Given the description of an element on the screen output the (x, y) to click on. 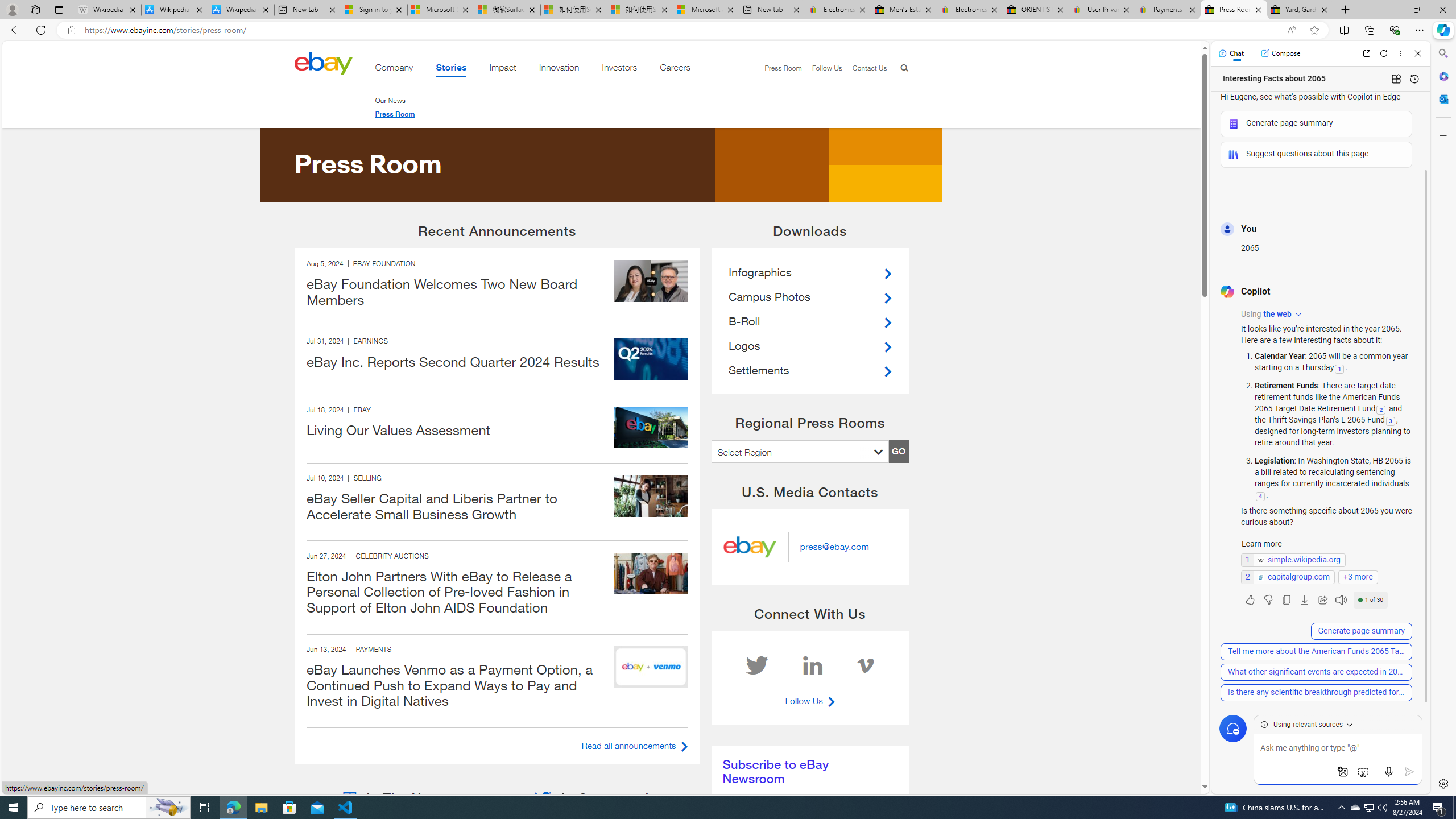
Careers (674, 69)
AutomationID: press-dropdown (799, 450)
240725 BoardMembers announcement v1 inc 1600x900 image B1 (650, 280)
Investors (619, 69)
